Given the description of an element on the screen output the (x, y) to click on. 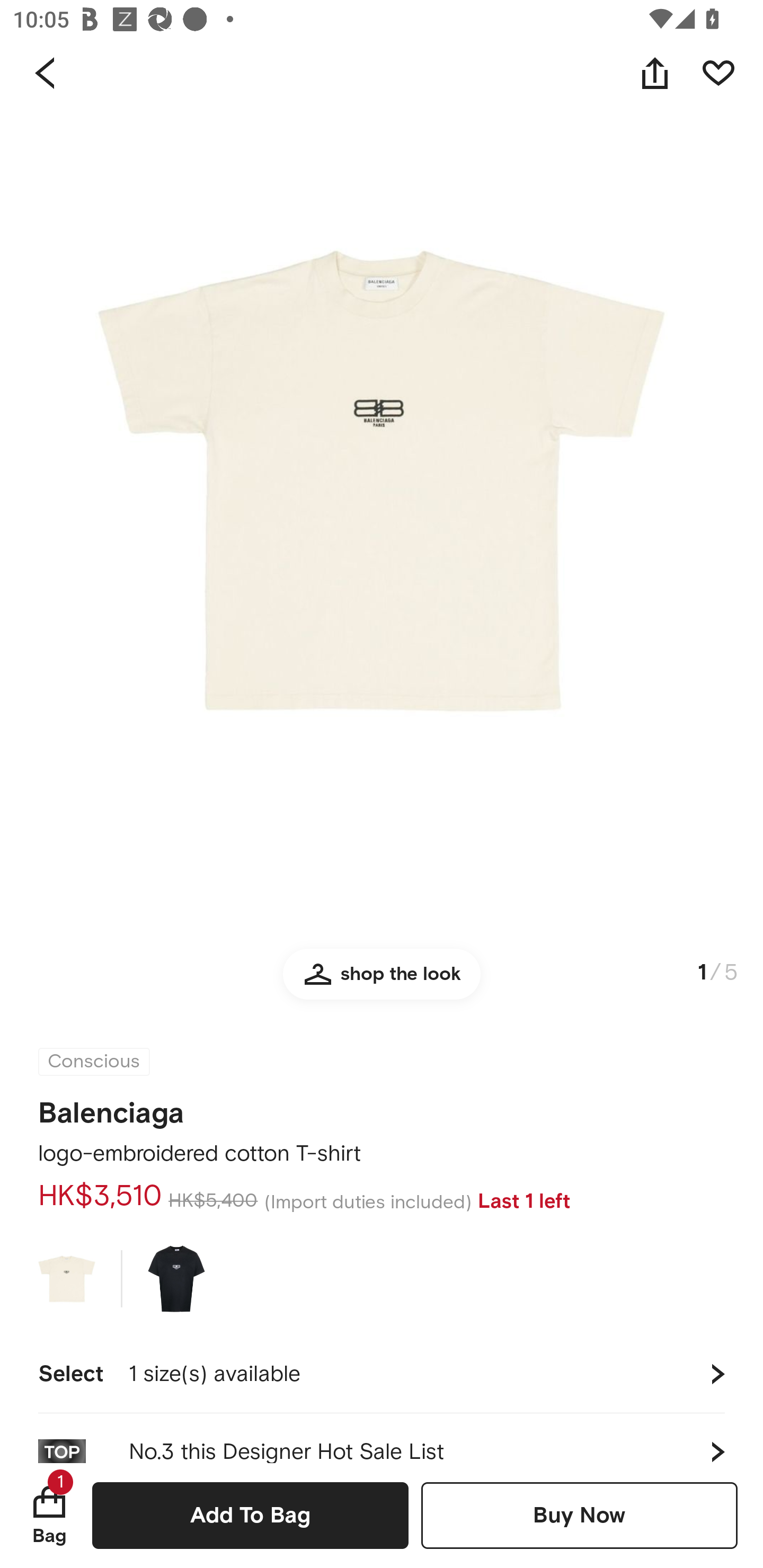
shop the look (381, 982)
Balenciaga (111, 1107)
Select 1 size(s) available (381, 1373)
No.3 this Designer Hot Sale List (381, 1438)
Bag 1 (49, 1515)
Add To Bag (250, 1515)
Buy Now (579, 1515)
